Given the description of an element on the screen output the (x, y) to click on. 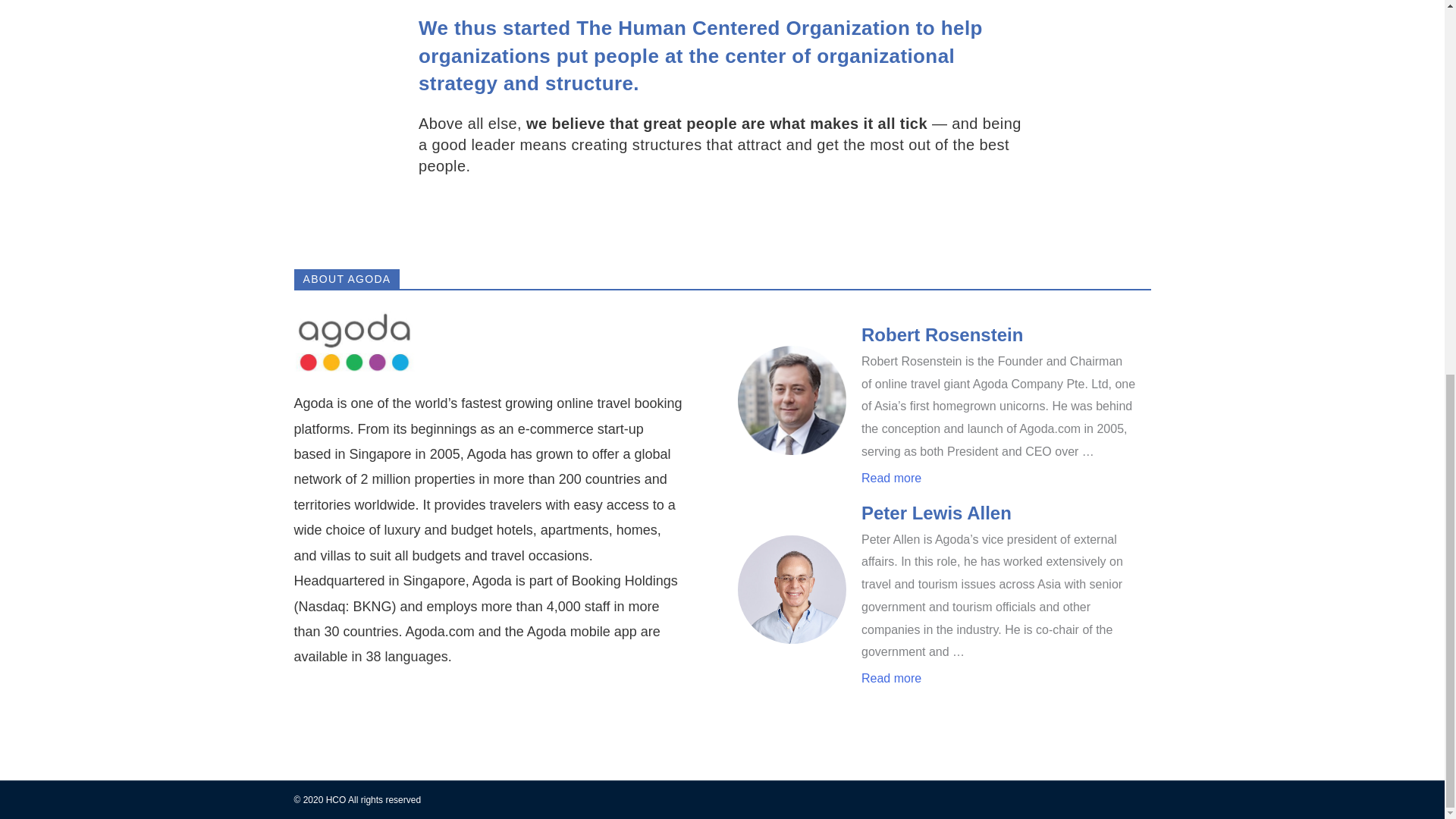
Read more (891, 477)
Read more (891, 678)
